Given the description of an element on the screen output the (x, y) to click on. 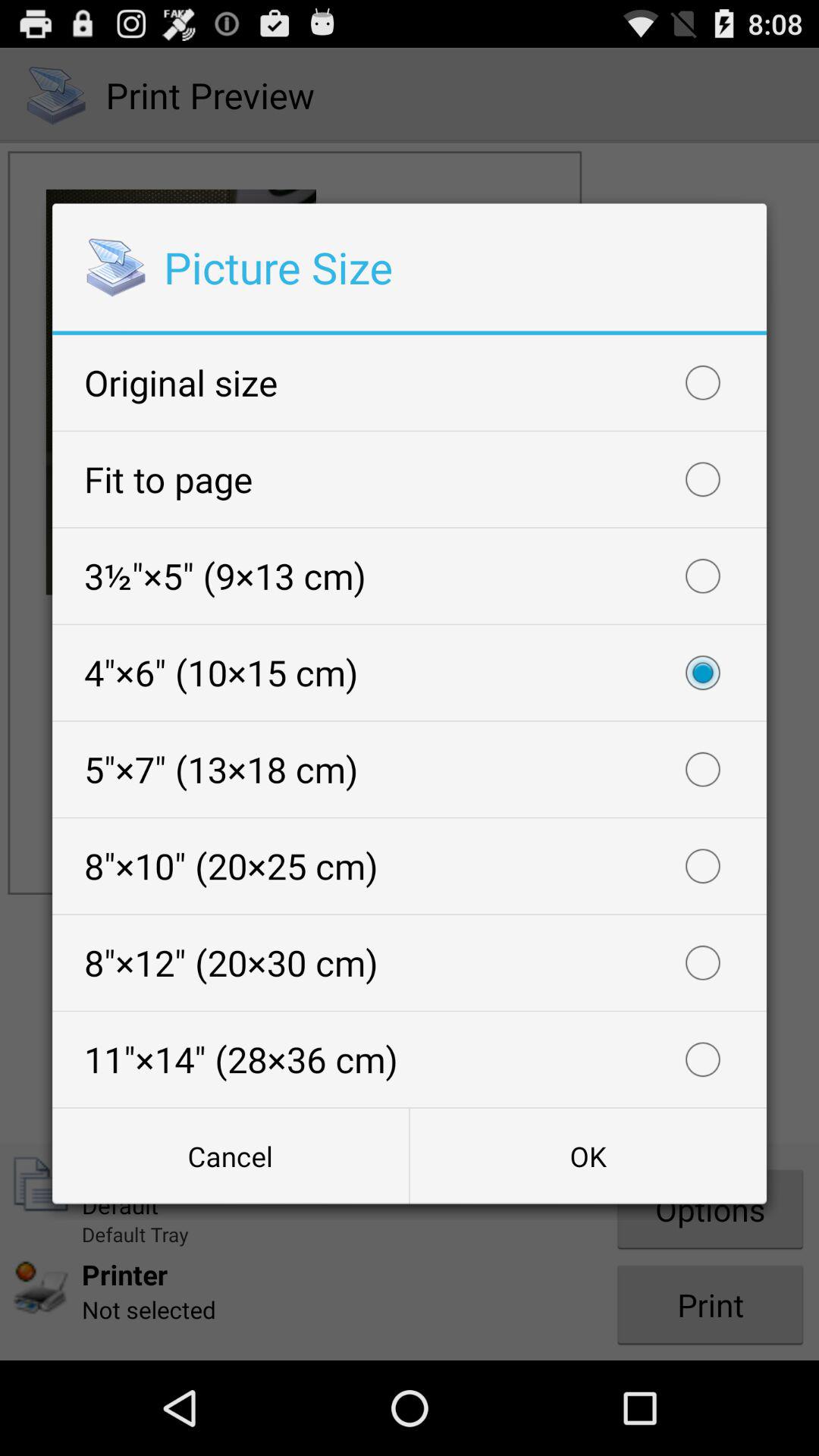
open the item next to the ok item (230, 1156)
